Given the description of an element on the screen output the (x, y) to click on. 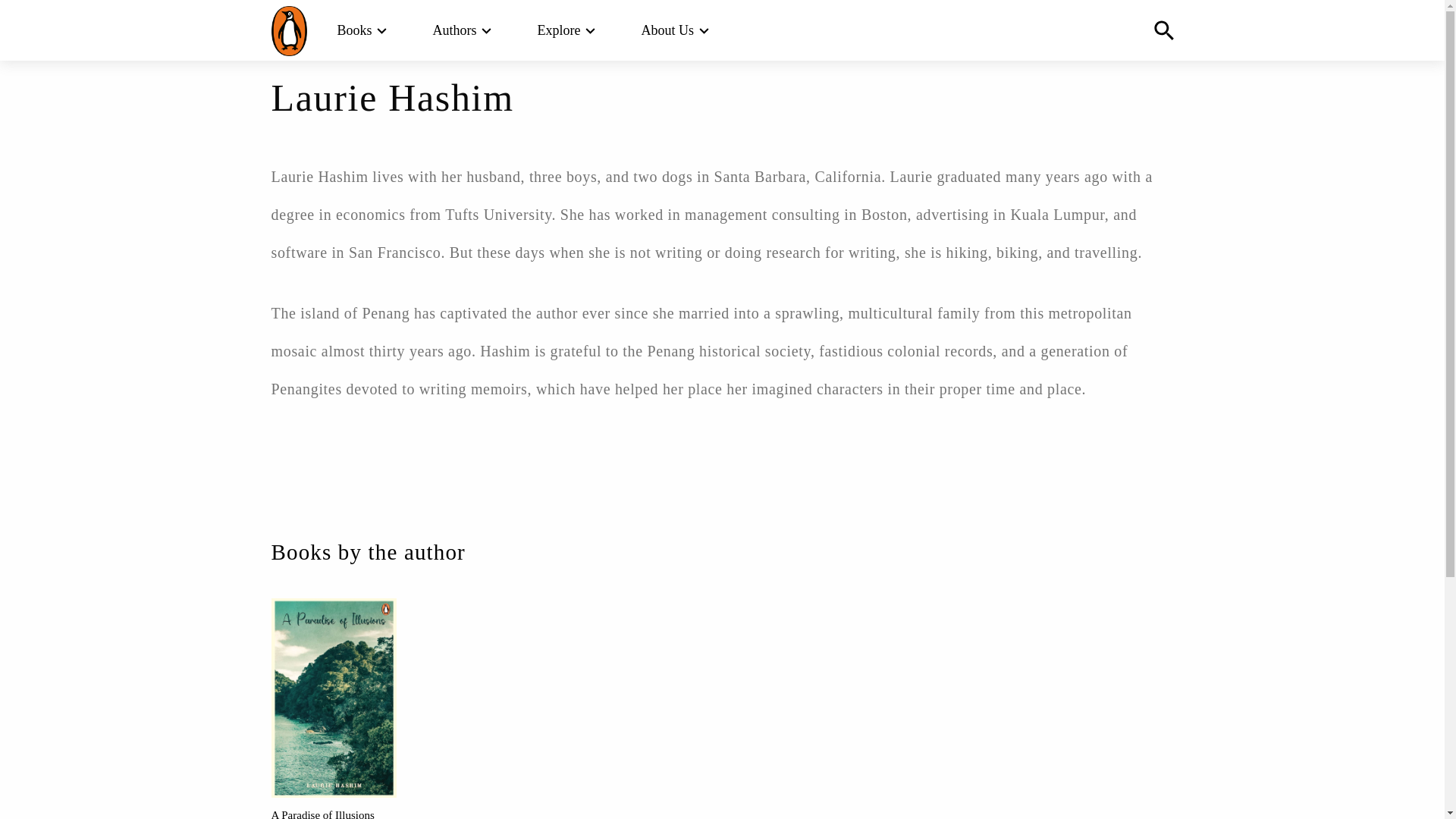
Authors (454, 30)
Explore (558, 30)
Books (353, 30)
